Given the description of an element on the screen output the (x, y) to click on. 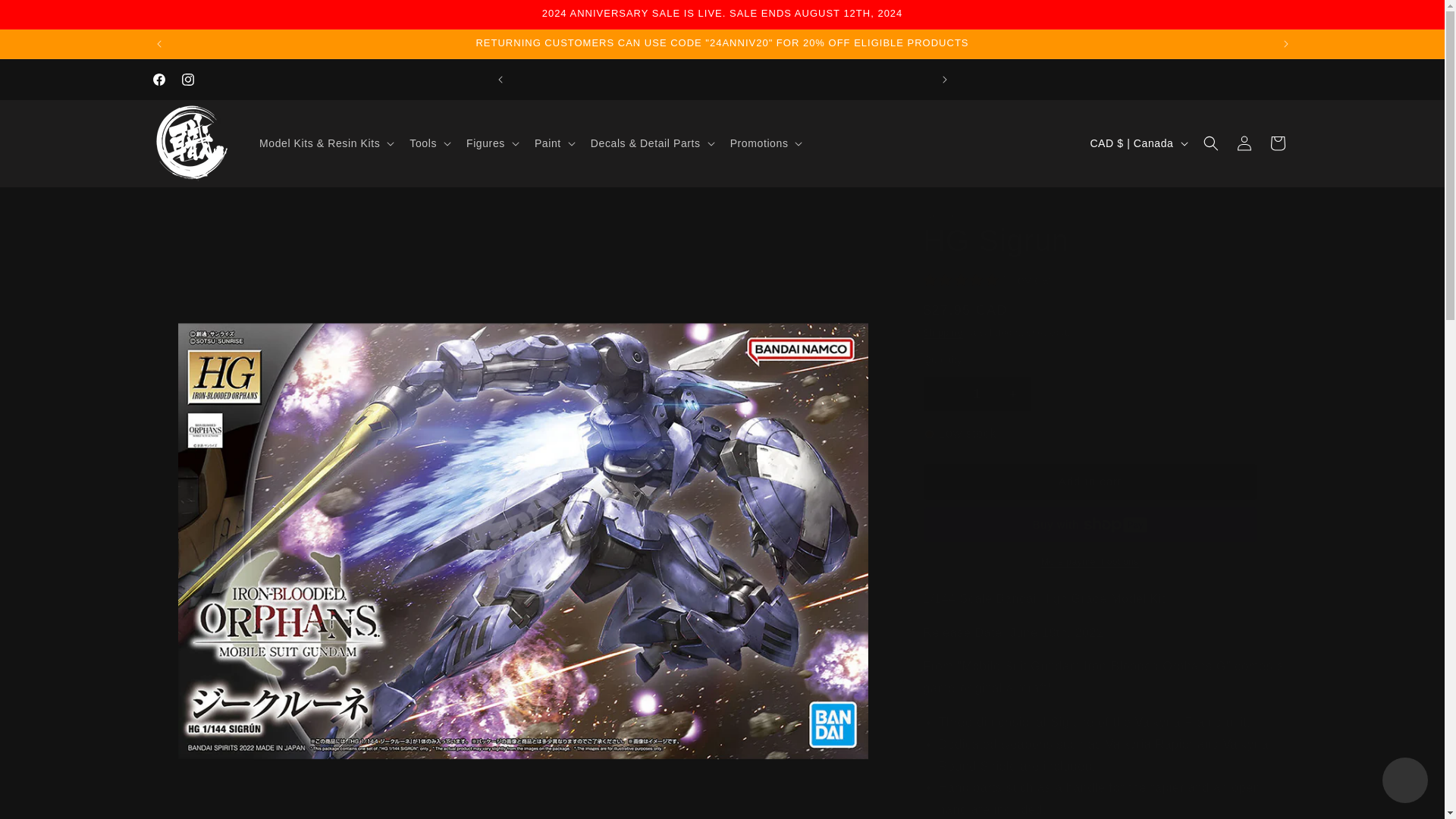
Shopify online store chat (1404, 781)
Facebook (158, 79)
1 (976, 393)
Instagram (187, 79)
Skip to content (45, 17)
